Given the description of an element on the screen output the (x, y) to click on. 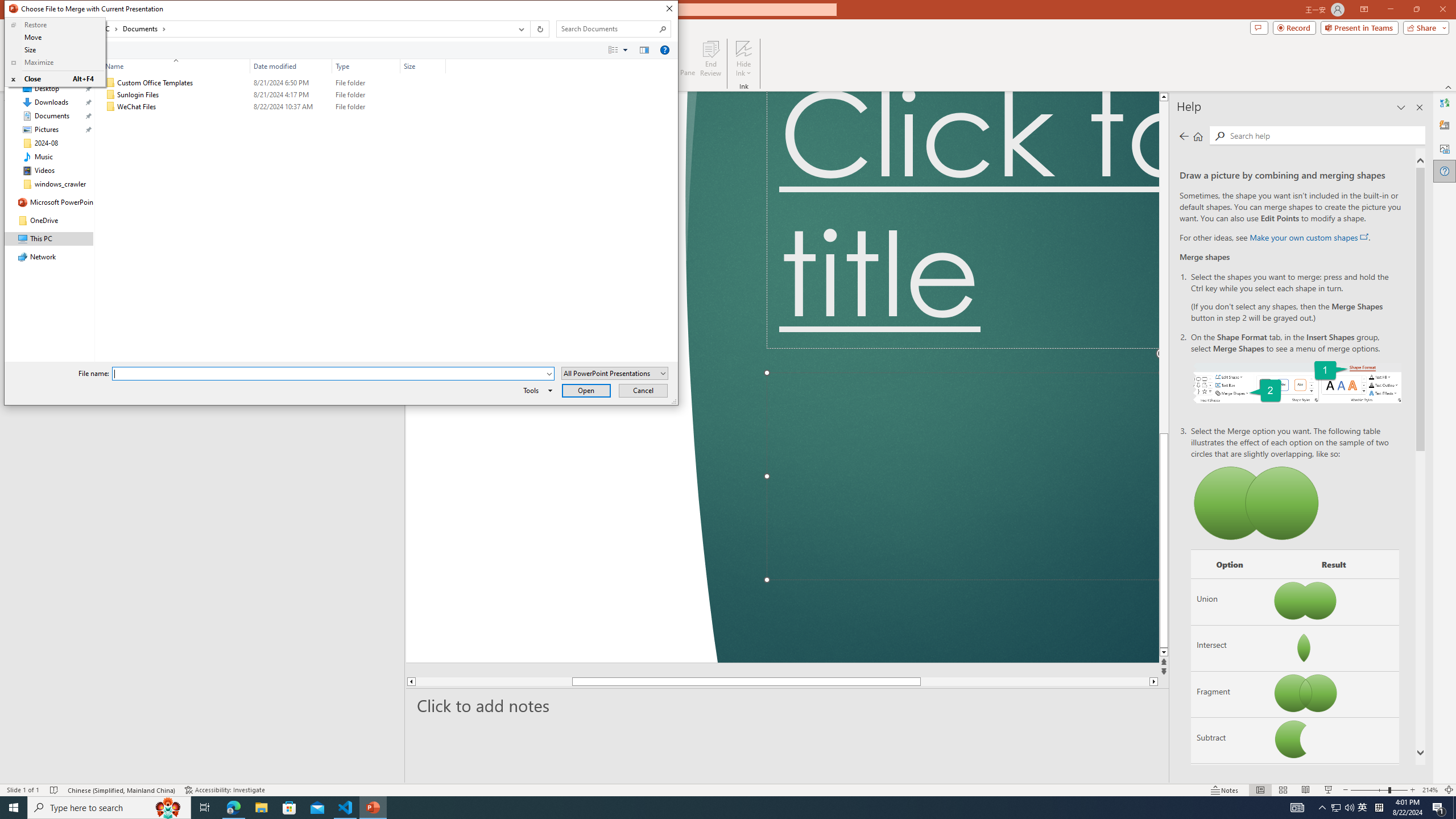
Fragment (1229, 693)
Files of type: (615, 373)
Class: UIImage (111, 106)
Spell Check No Errors (54, 790)
Previous page (1183, 136)
Search (1325, 135)
Visual Studio Code - 1 running window (345, 807)
Search Box (607, 28)
Type (365, 106)
Running applications (707, 807)
PowerPoint - 1 running window (373, 807)
